Given the description of an element on the screen output the (x, y) to click on. 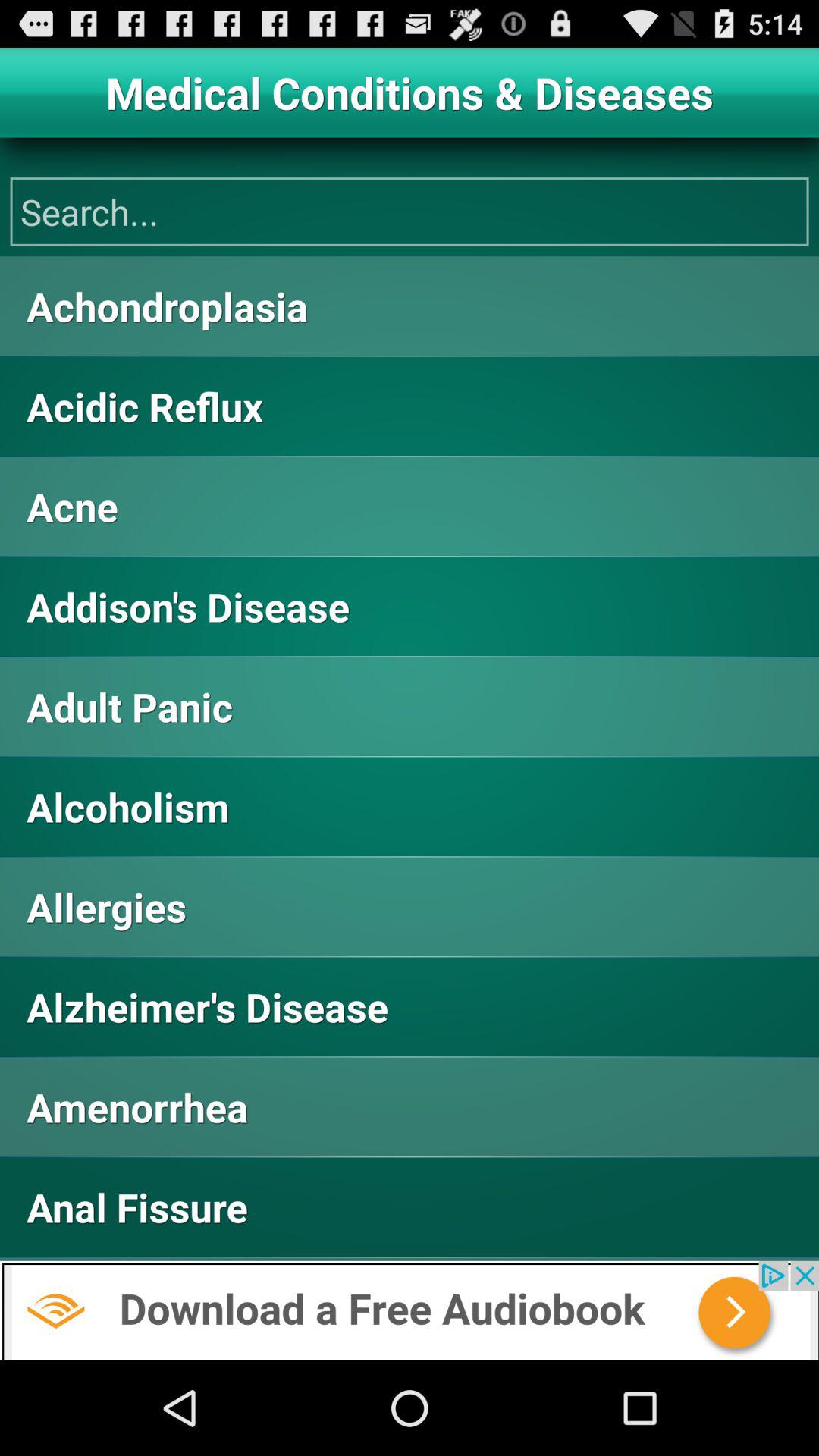
select the audiobook (409, 1310)
